Given the description of an element on the screen output the (x, y) to click on. 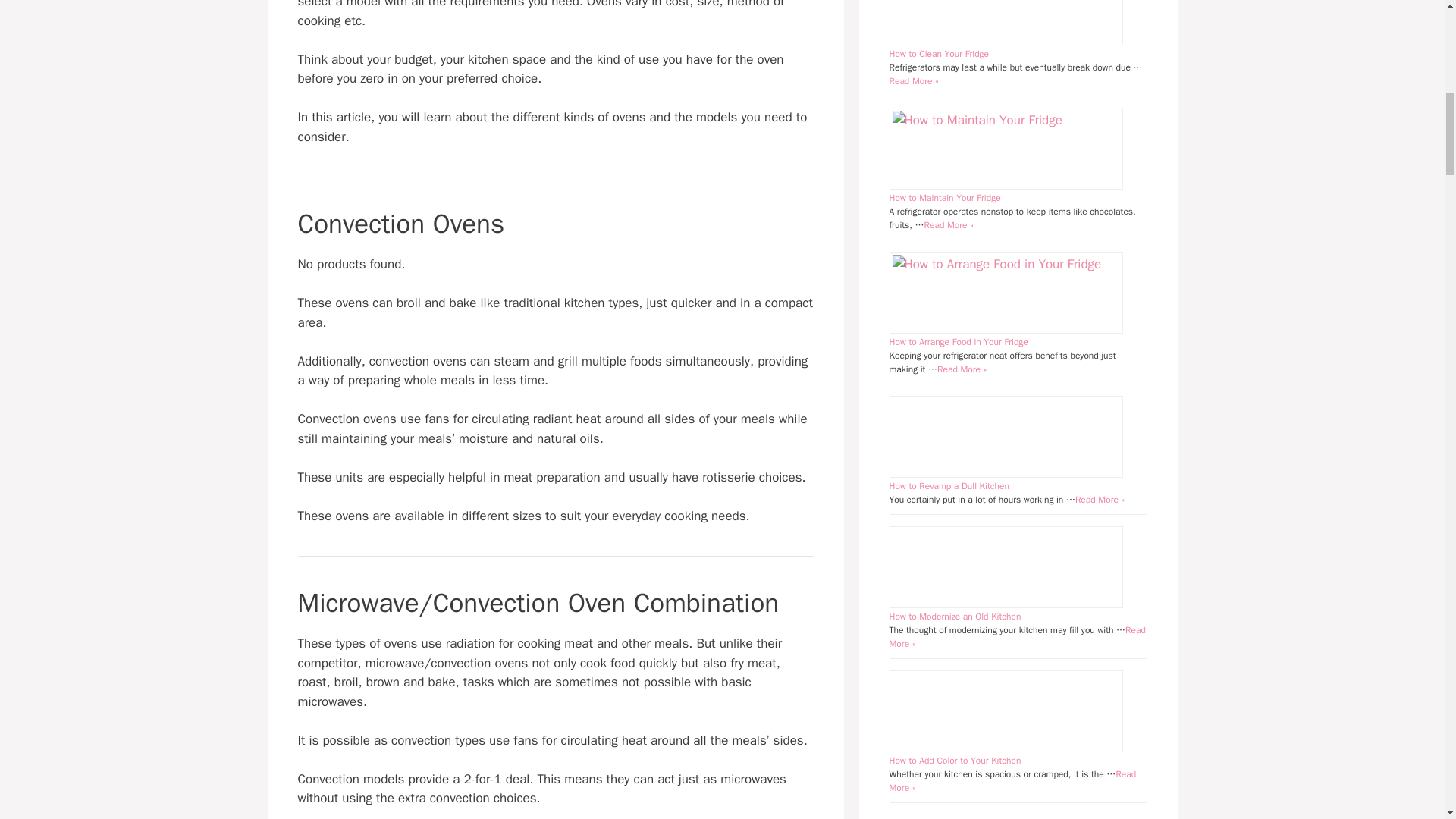
How to Add Color to Your Kitchen (954, 760)
How to Modernize an Old Kitchen (954, 616)
How to Maintain Your Fridge (944, 197)
How to Revamp a Dull Kitchen (948, 485)
How to Arrange Food in Your Fridge (957, 341)
How to Clean Your Fridge (938, 53)
